Given the description of an element on the screen output the (x, y) to click on. 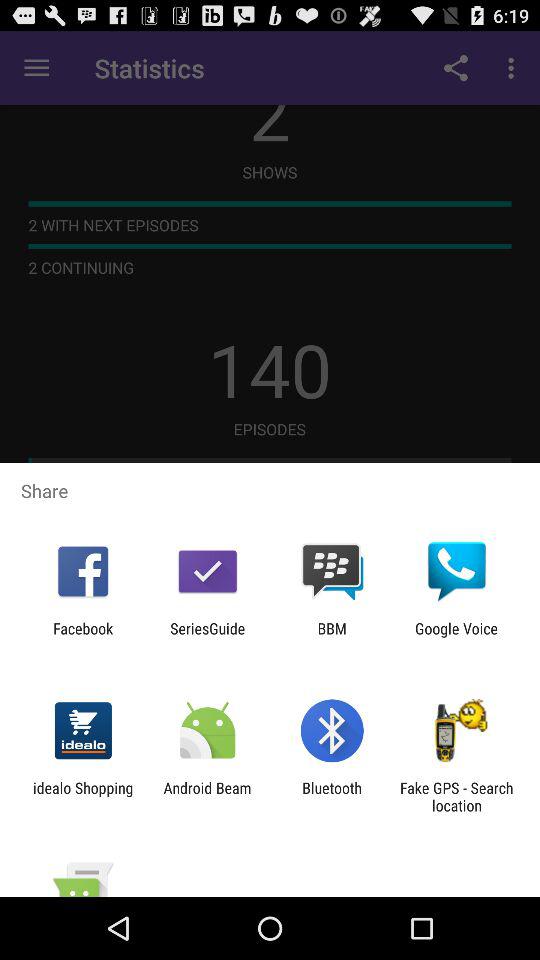
click the item to the right of bluetooth (456, 796)
